Given the description of an element on the screen output the (x, y) to click on. 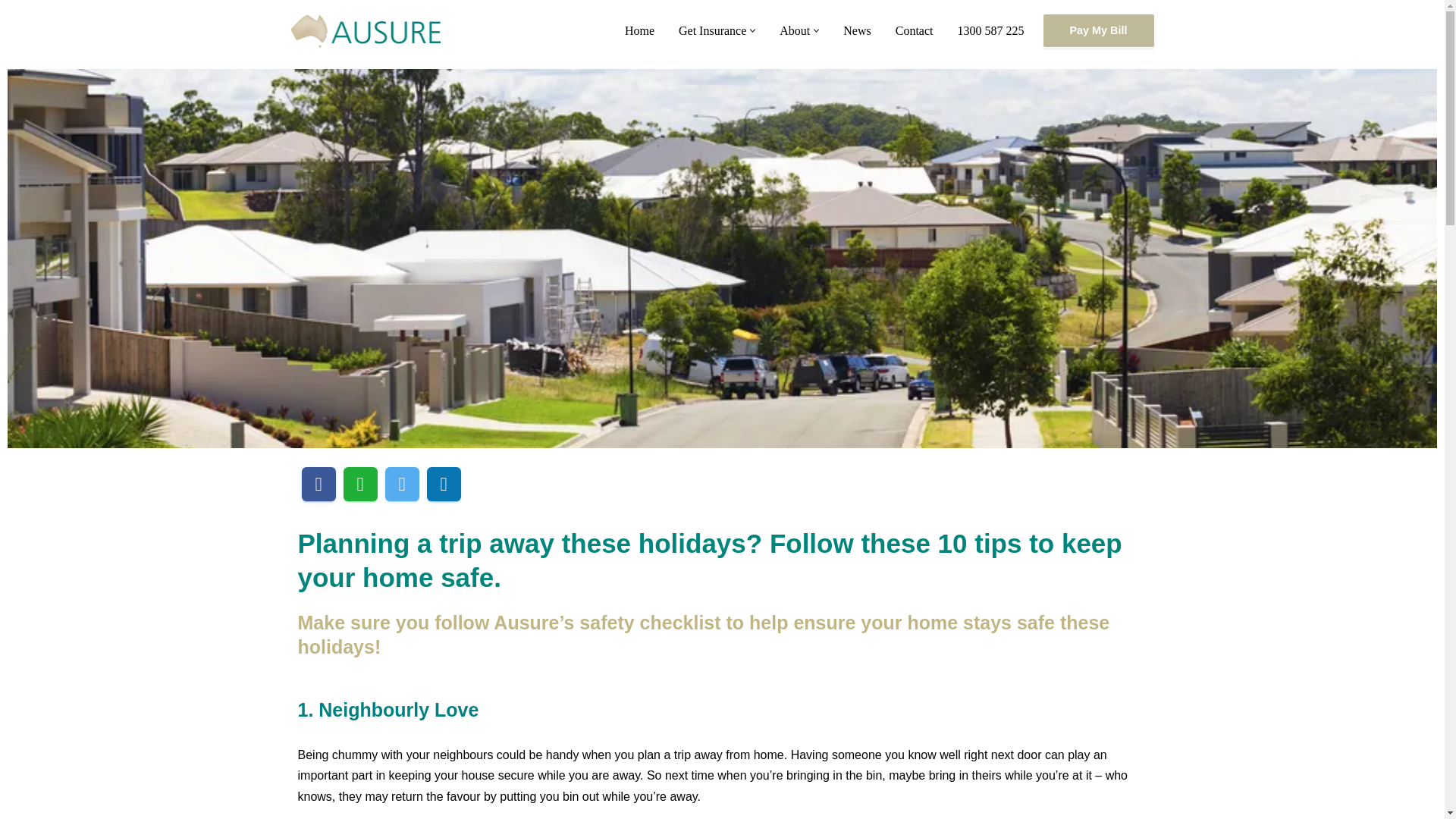
Contact (914, 30)
Get Insurance (711, 30)
Skip to content (11, 31)
Pay My Bill (1098, 30)
1300 587 225 (991, 30)
News (856, 30)
Home (638, 30)
About (793, 30)
